Given the description of an element on the screen output the (x, y) to click on. 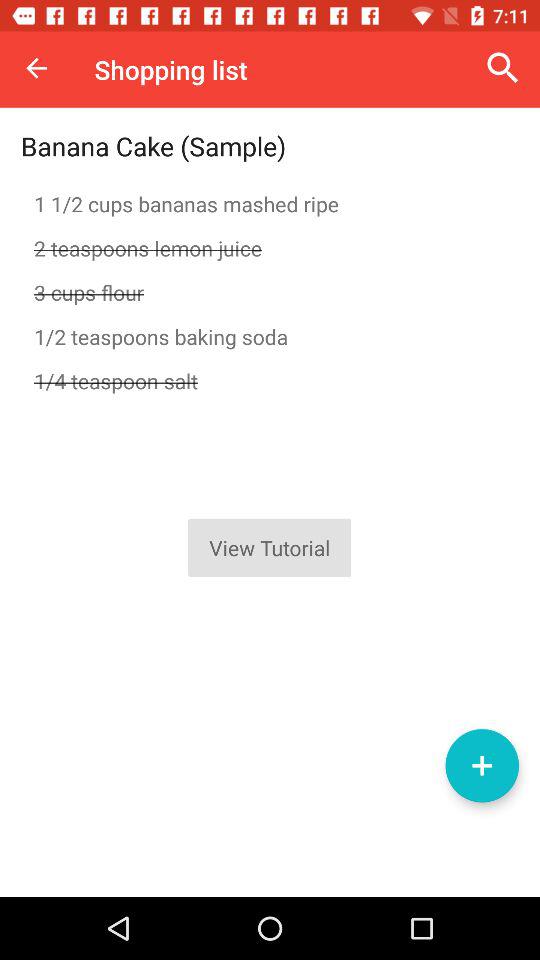
select item above 1 1 2 item (153, 145)
